Given the description of an element on the screen output the (x, y) to click on. 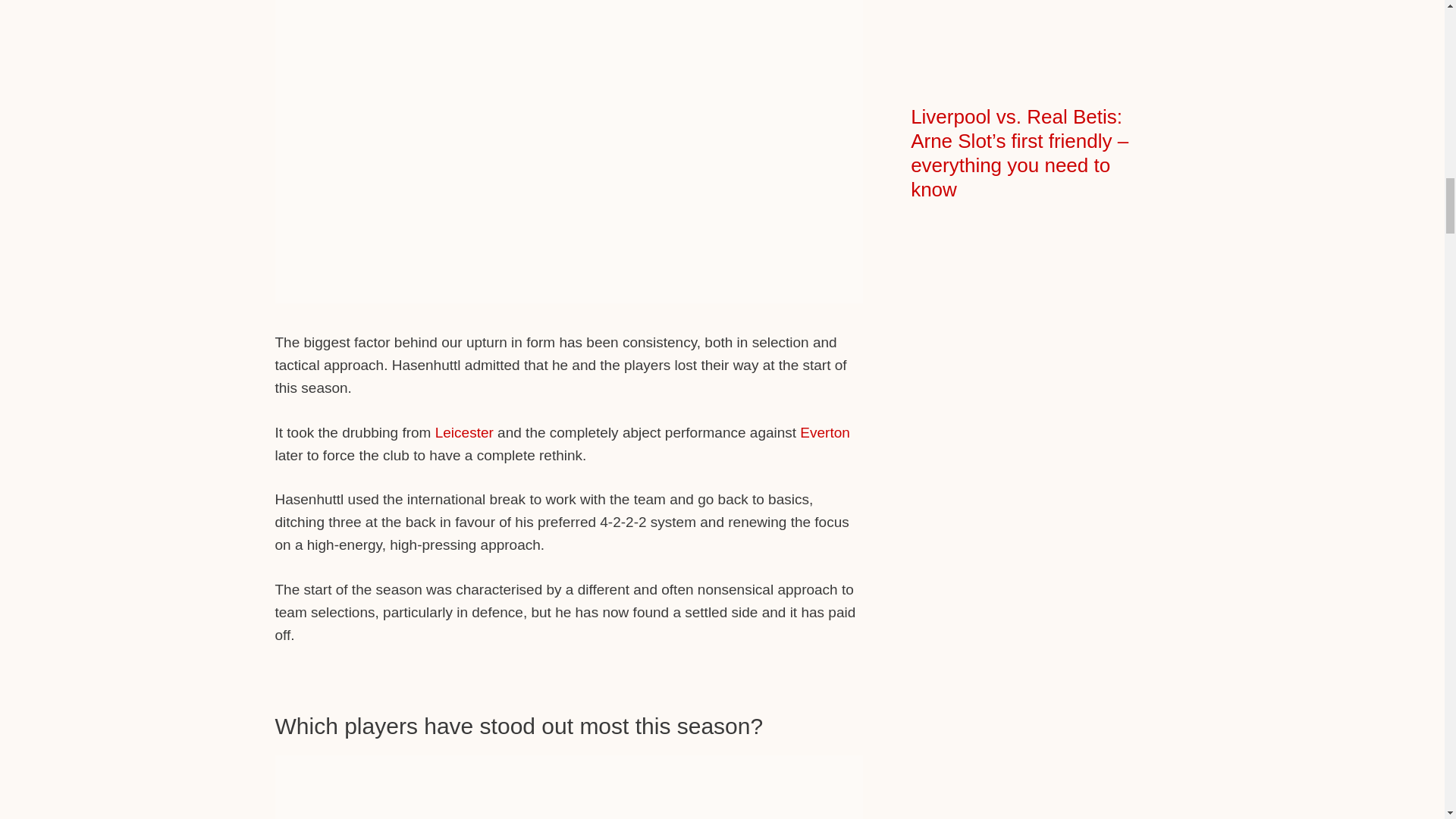
Leicester (464, 432)
